Given the description of an element on the screen output the (x, y) to click on. 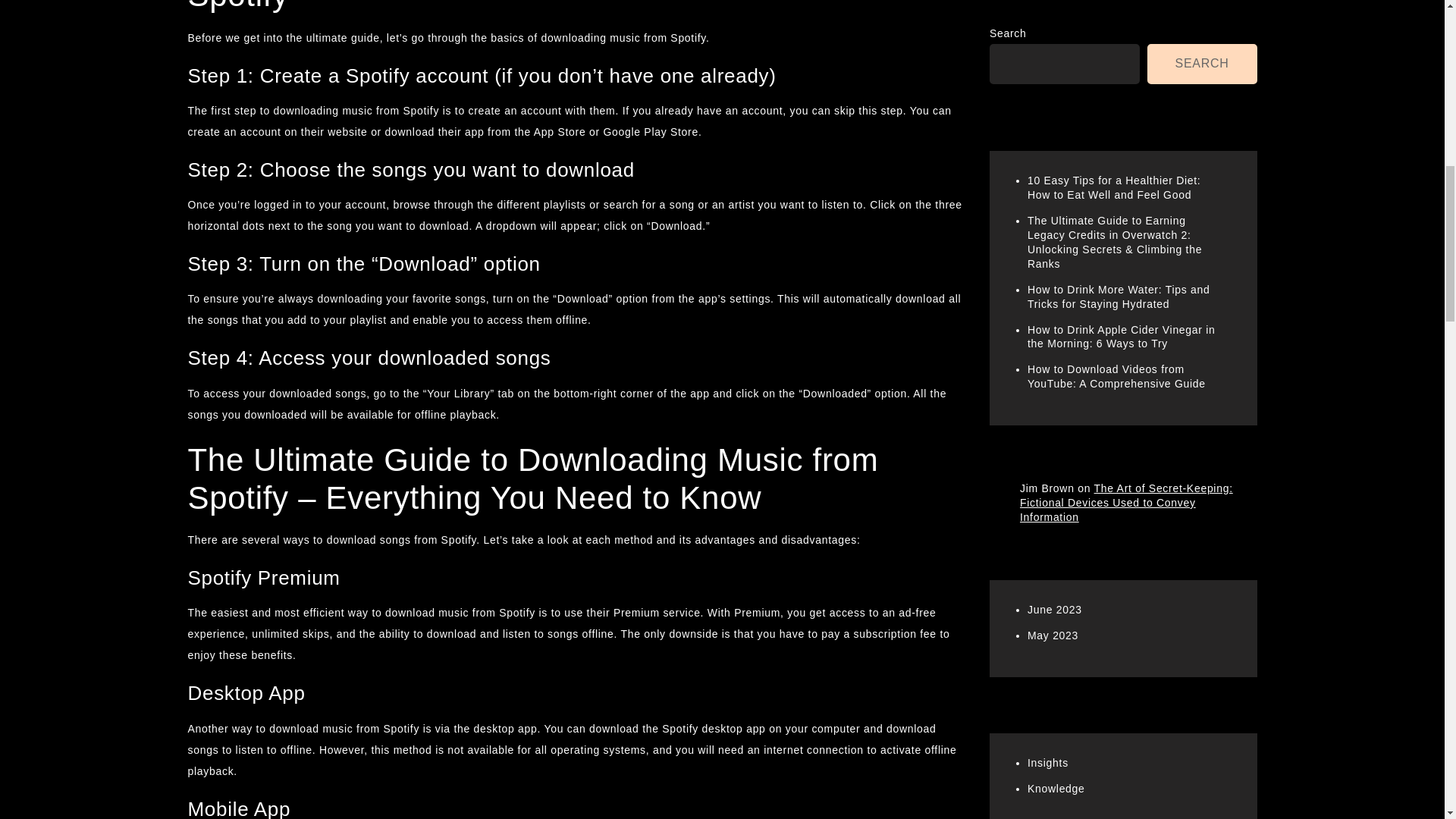
Insights (1047, 38)
Knowledge (1055, 64)
